Given the description of an element on the screen output the (x, y) to click on. 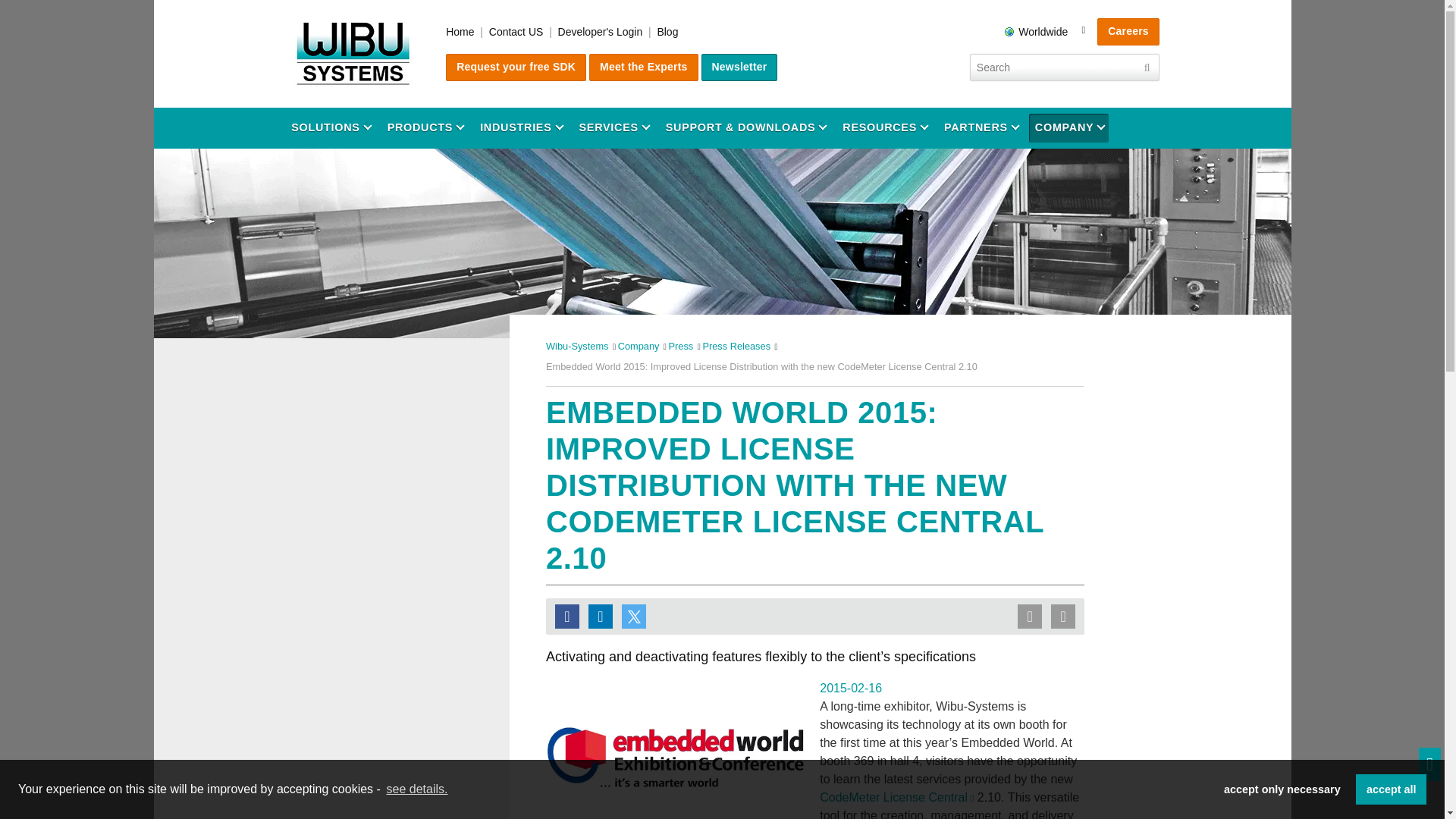
WIBU-SYSTEMS AG (353, 53)
